Given the description of an element on the screen output the (x, y) to click on. 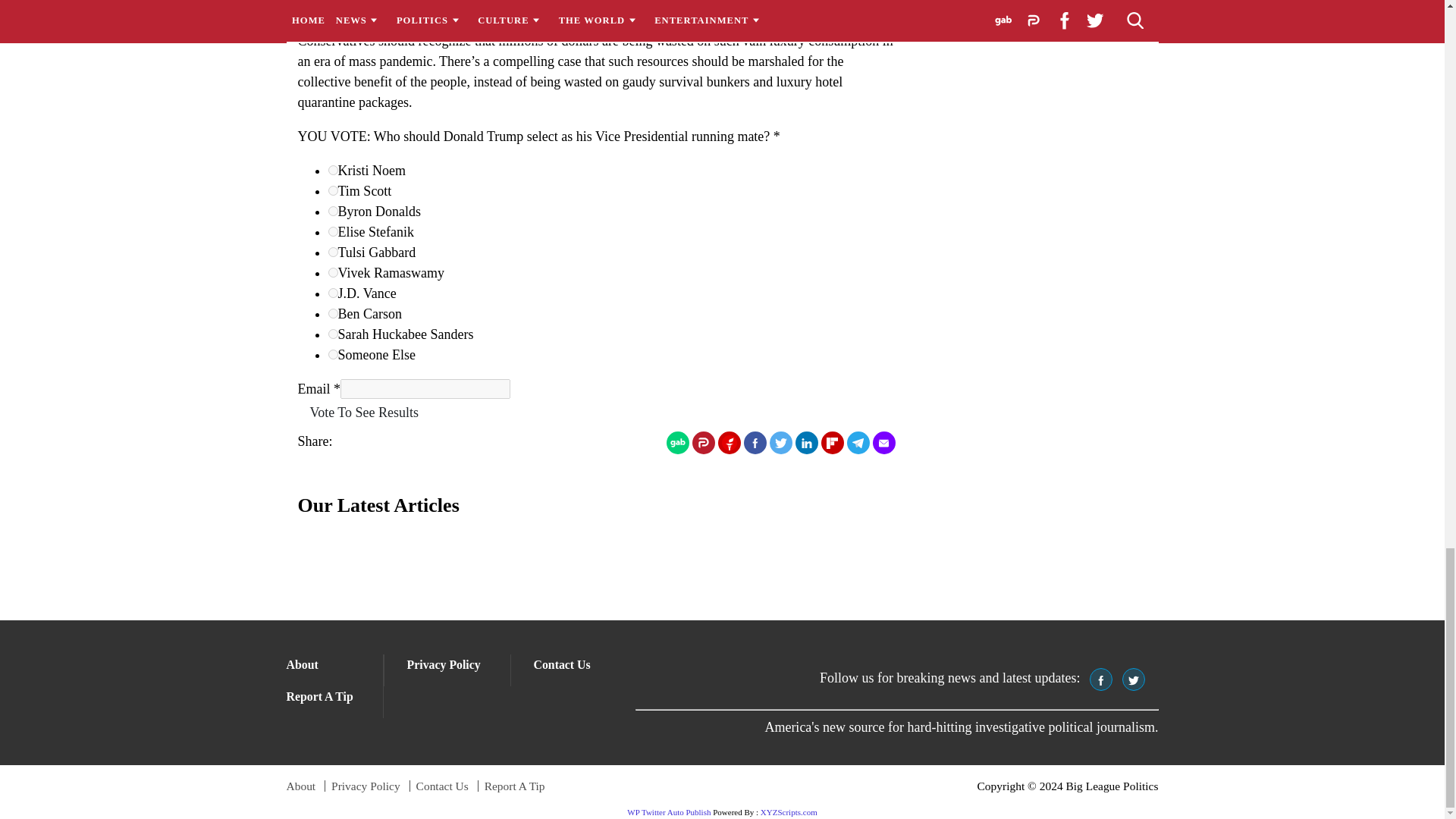
Kristi Noem (332, 170)
Byron Donalds (332, 211)
WP Twitter Auto Publish (668, 811)
Sarah Huckabee Sanders (332, 334)
Ben Carson (332, 313)
Tulsi Gabbard (332, 252)
Tim Scott (332, 190)
Follow us on Facebook (1100, 679)
Someone Else (332, 354)
Vivek Ramaswamy (332, 272)
